Given the description of an element on the screen output the (x, y) to click on. 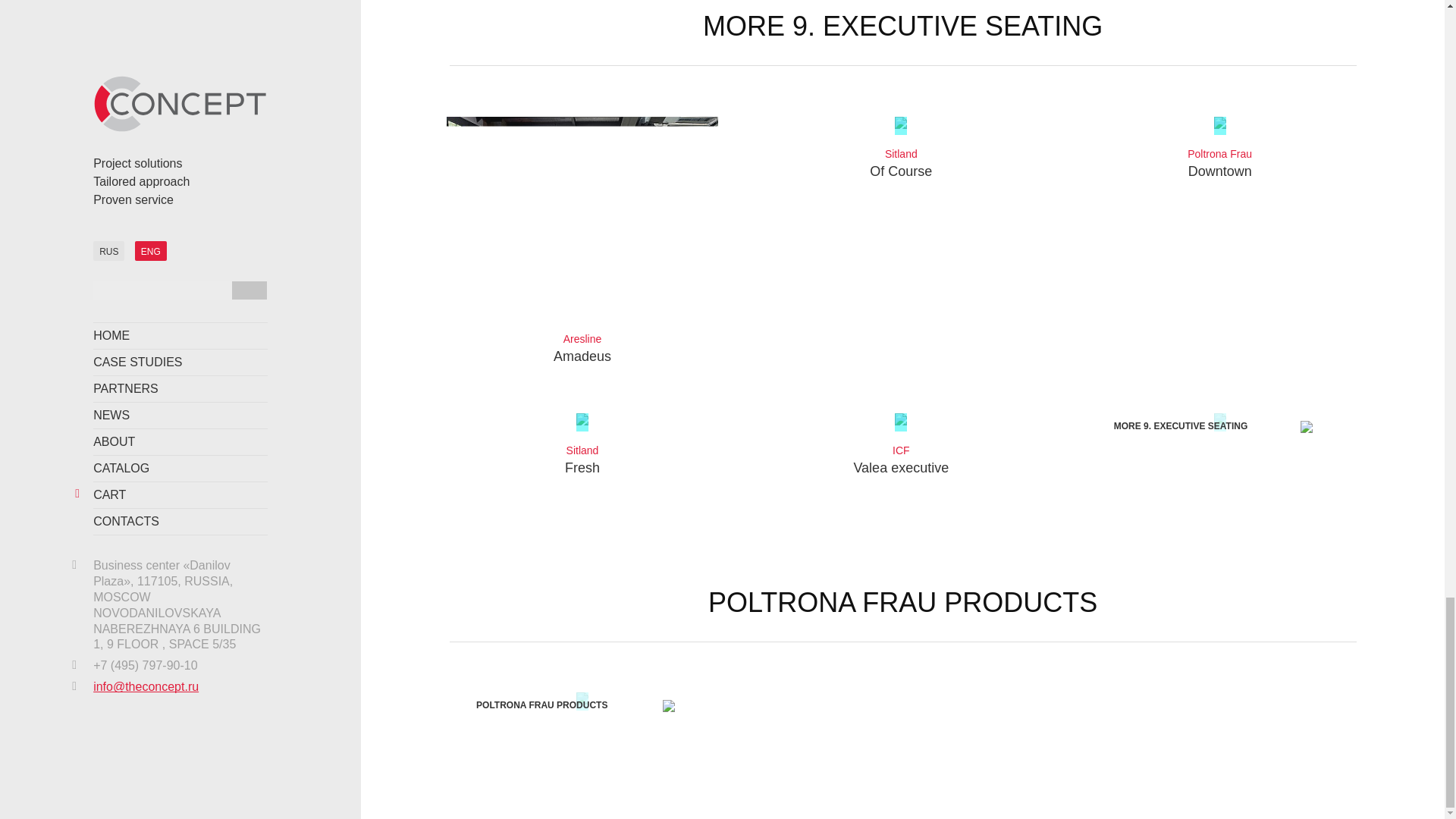
 Send  (901, 177)
POLTRONA FRAU PRODUCTS (581, 701)
MORE 9. EXECUTIVE SEATING (581, 241)
